Given the description of an element on the screen output the (x, y) to click on. 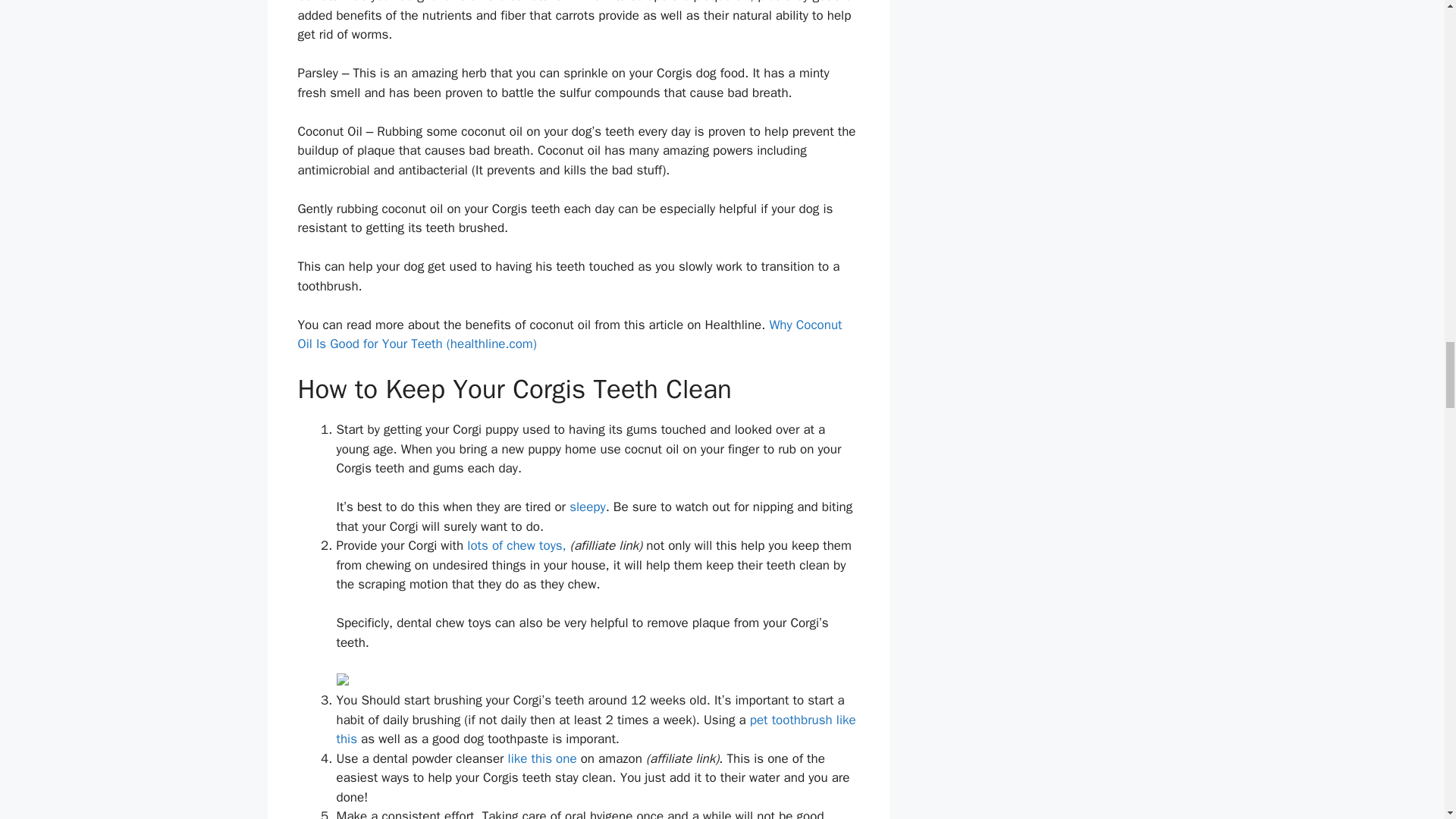
pet toothbrush like this (596, 729)
like this one (539, 758)
lots of chew toys, (516, 545)
sleepy (587, 506)
